Given the description of an element on the screen output the (x, y) to click on. 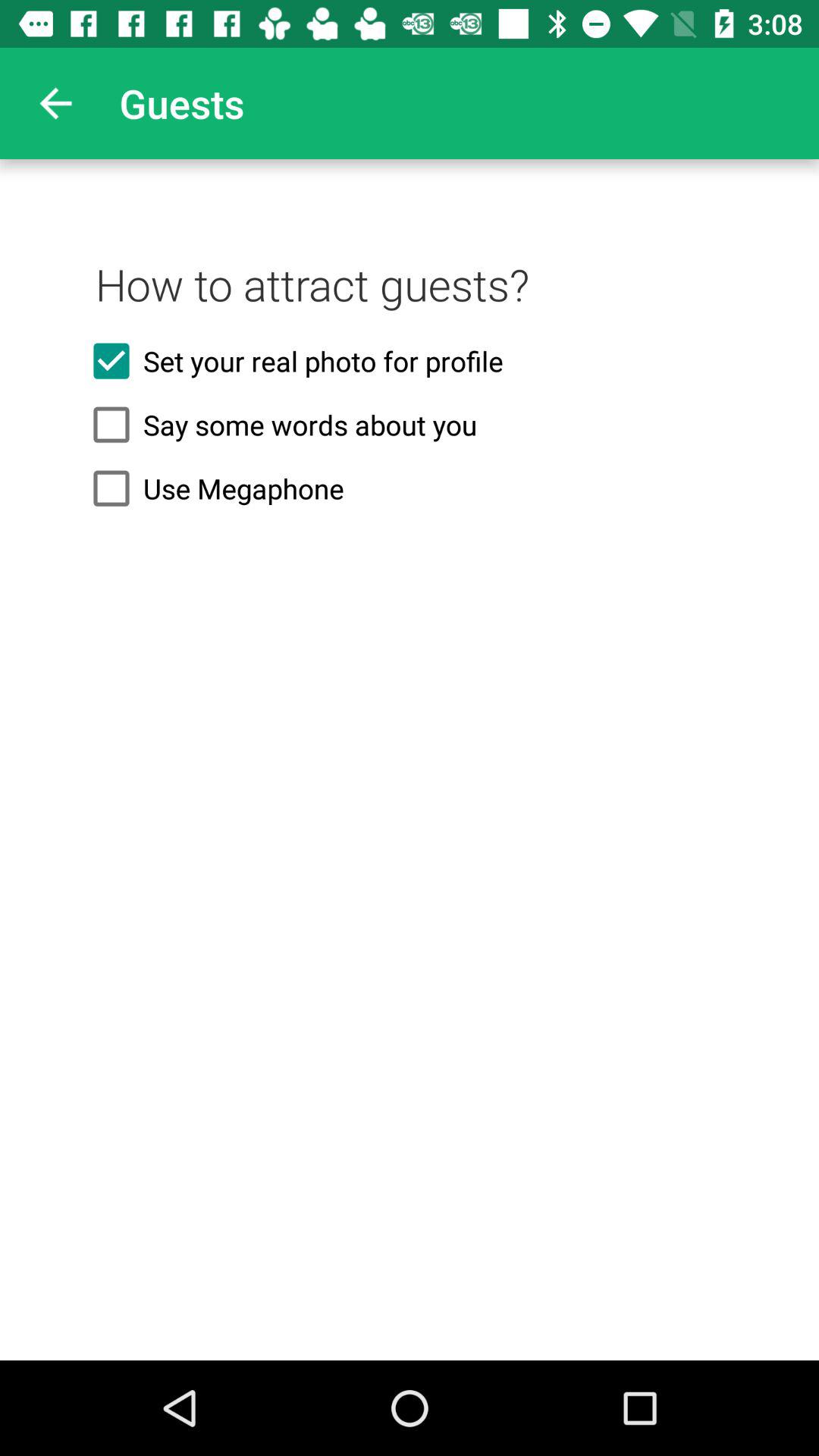
turn on the icon above use megaphone item (409, 424)
